Given the description of an element on the screen output the (x, y) to click on. 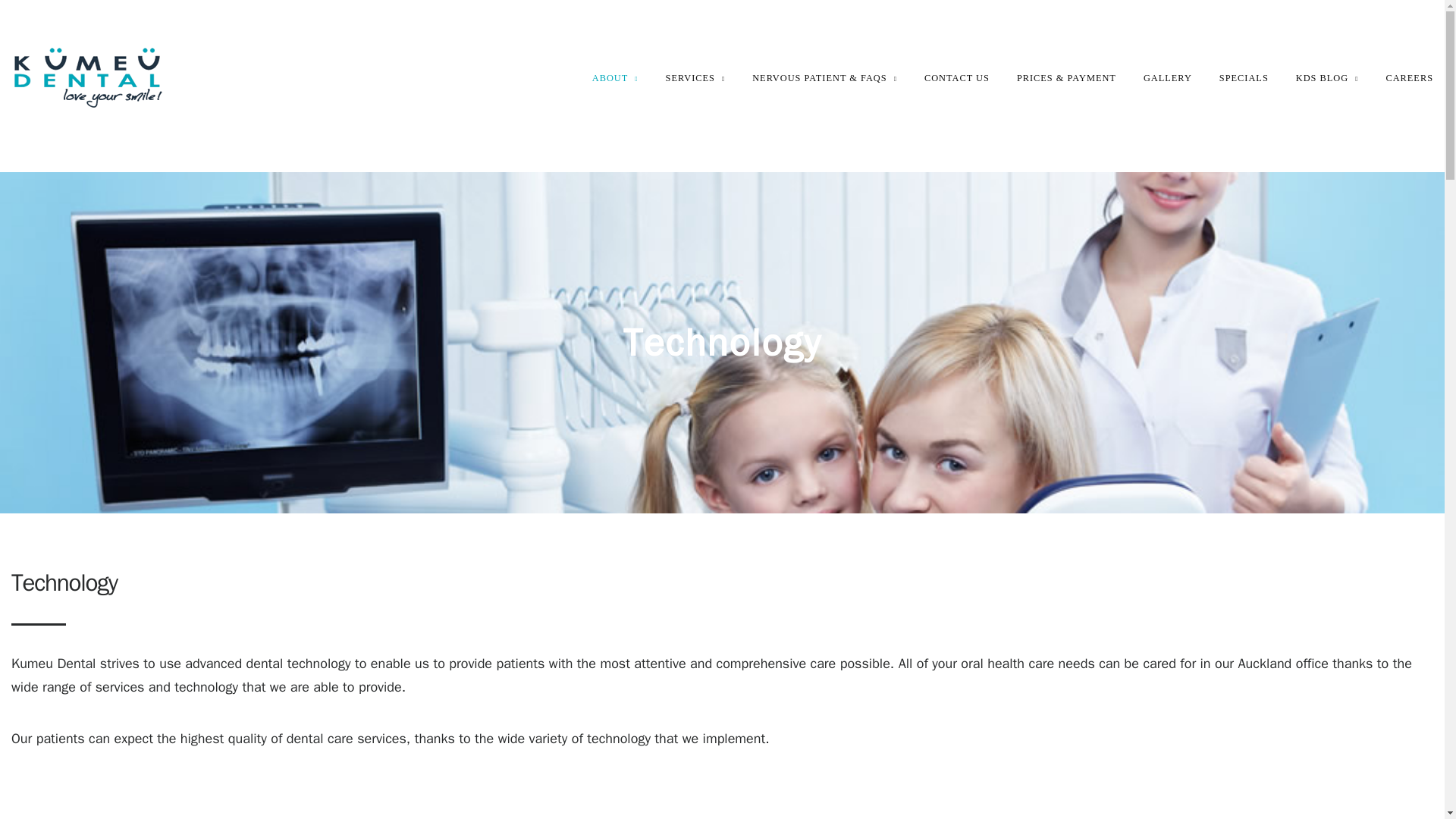
ABOUT (615, 78)
SPECIALS (1244, 78)
KDS BLOG (1326, 78)
SERVICES (695, 78)
CAREERS (1409, 78)
GALLERY (1167, 78)
CONTACT US (957, 78)
